Given the description of an element on the screen output the (x, y) to click on. 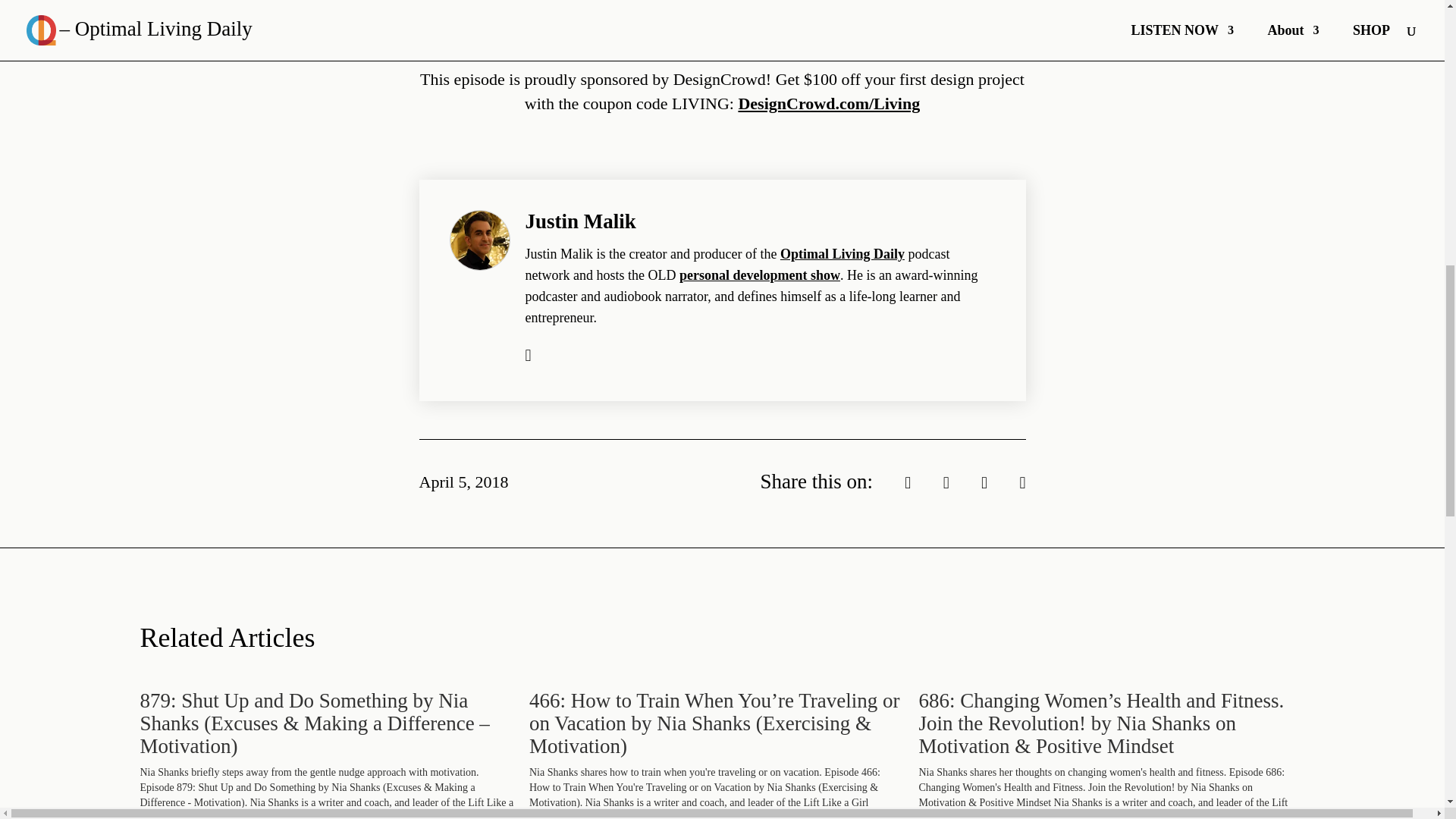
personal development show (759, 274)
Join the Ol' Family to get your Free Gifts (733, 21)
Justin Malik (579, 220)
Optimal Living Daily (842, 253)
